Given the description of an element on the screen output the (x, y) to click on. 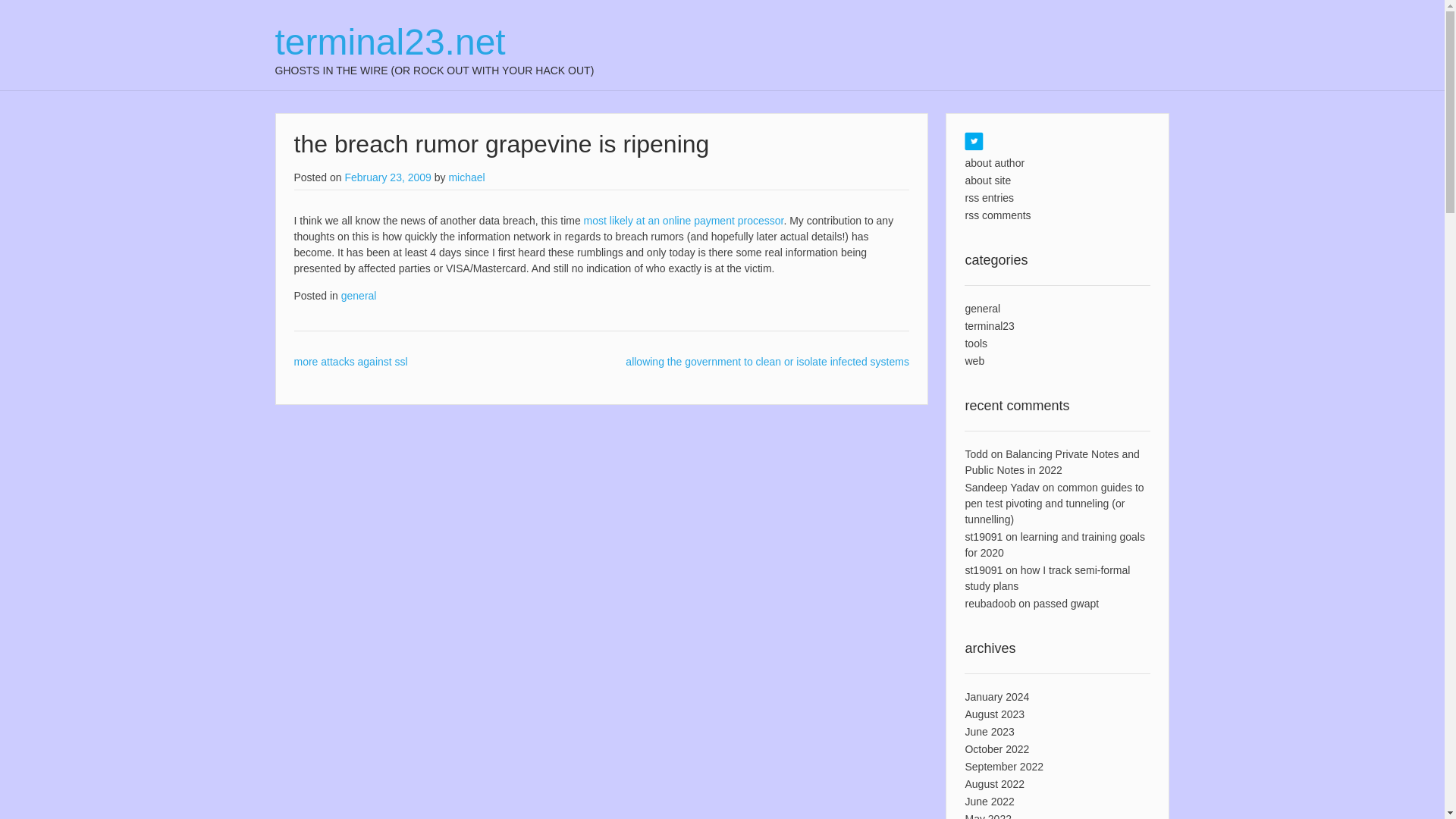
about author (994, 162)
rss comments (996, 215)
June 2023 (988, 731)
rss entries (988, 197)
terminal23.net (434, 42)
more attacks against ssl (350, 361)
general (981, 308)
passed gwapt (1066, 603)
Sandeep Yadav (1001, 487)
January 2024 (996, 696)
May 2022 (986, 816)
Balancing Private Notes and Public Notes in 2022 (1050, 461)
February 23, 2009 (386, 177)
June 2022 (988, 801)
how I track semi-formal study plans (1046, 578)
